Given the description of an element on the screen output the (x, y) to click on. 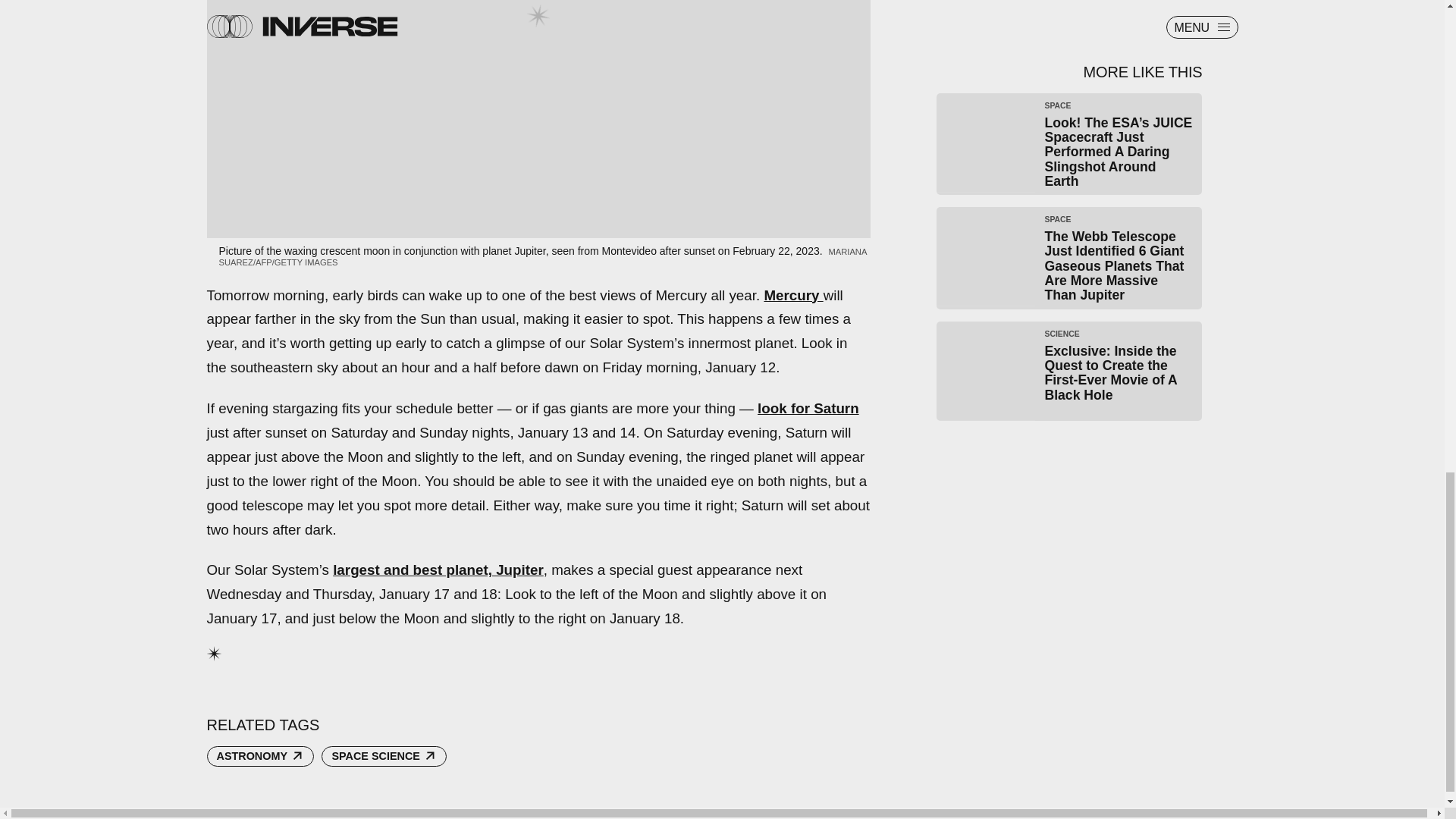
Mercury (792, 295)
largest and best planet, Jupiter (438, 569)
look for Saturn (808, 408)
ASTRONOMY (260, 756)
SPACE SCIENCE (383, 756)
